Given the description of an element on the screen output the (x, y) to click on. 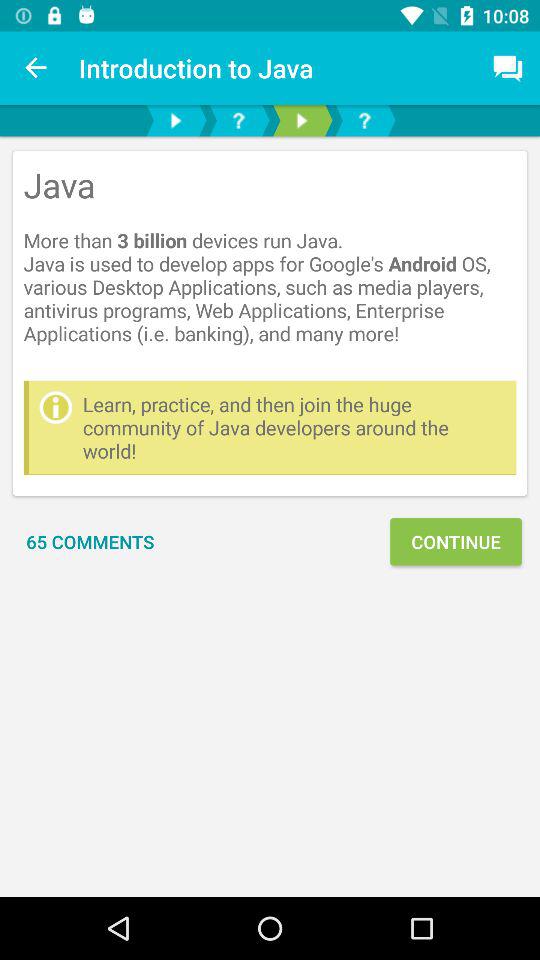
press learn practice and item (293, 427)
